Given the description of an element on the screen output the (x, y) to click on. 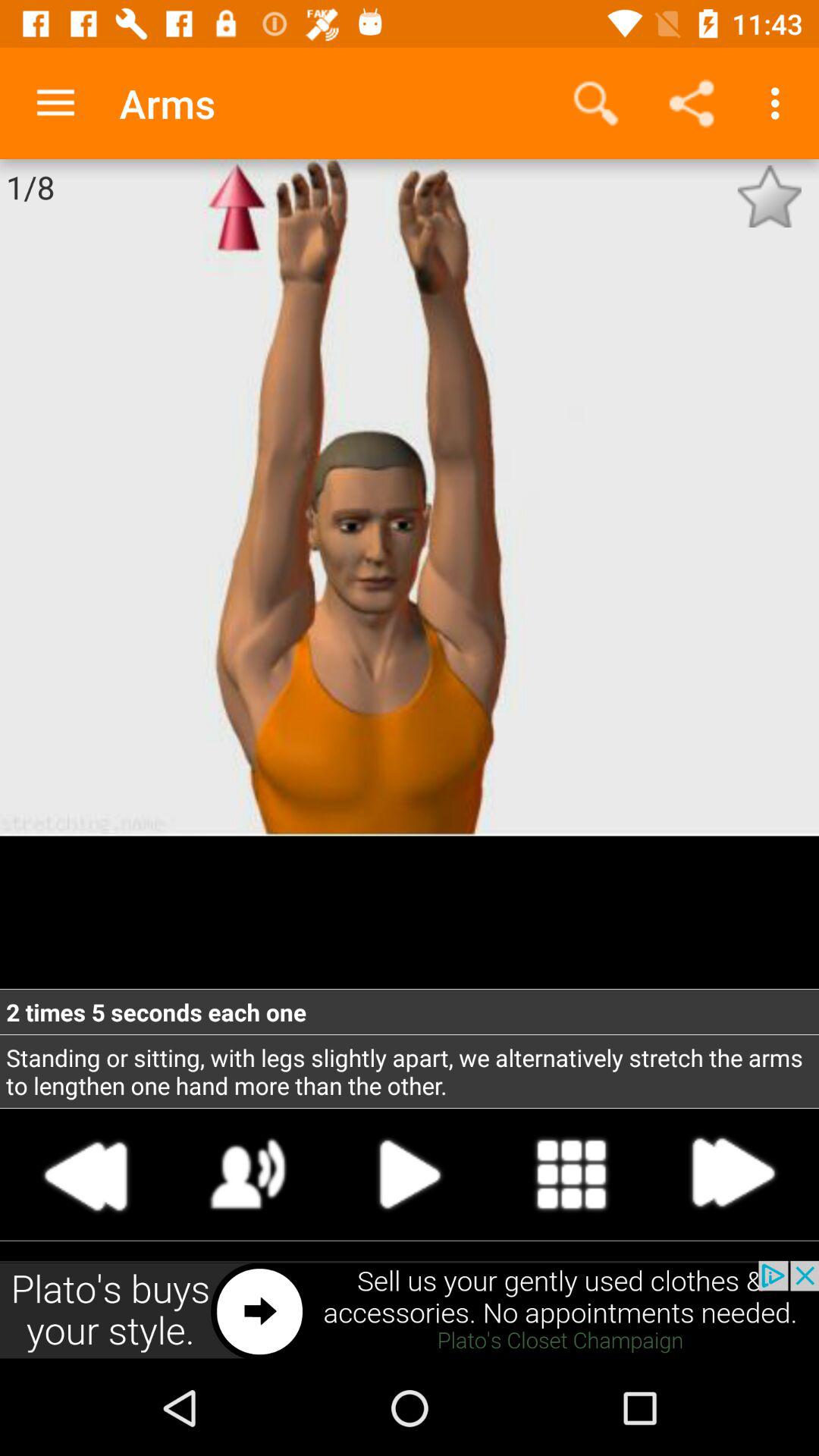
next step (731, 1174)
